Given the description of an element on the screen output the (x, y) to click on. 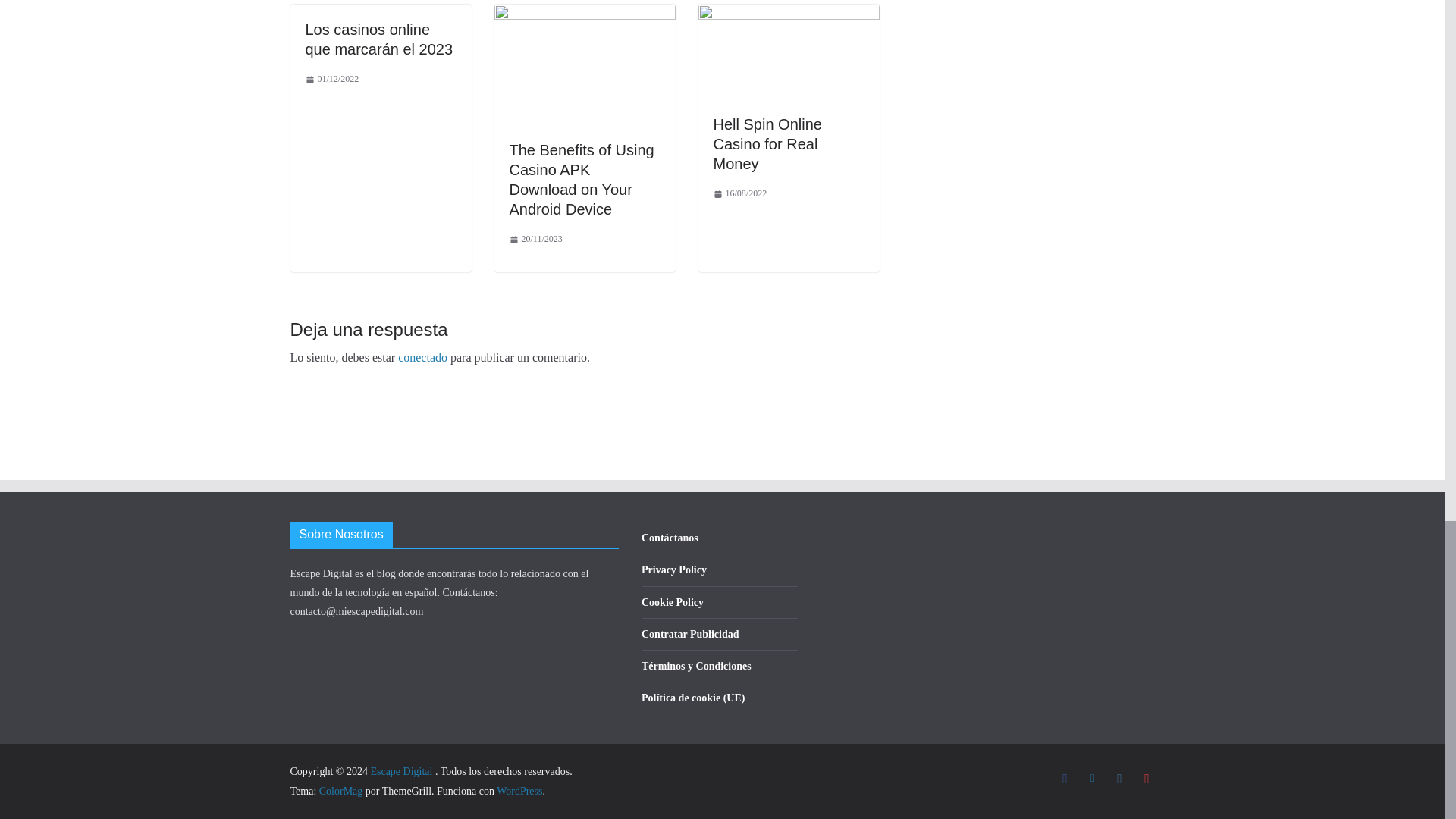
10:08 PM (331, 79)
Hell Spin Online Casino for Real Money (788, 14)
12:18 AM (535, 239)
